Given the description of an element on the screen output the (x, y) to click on. 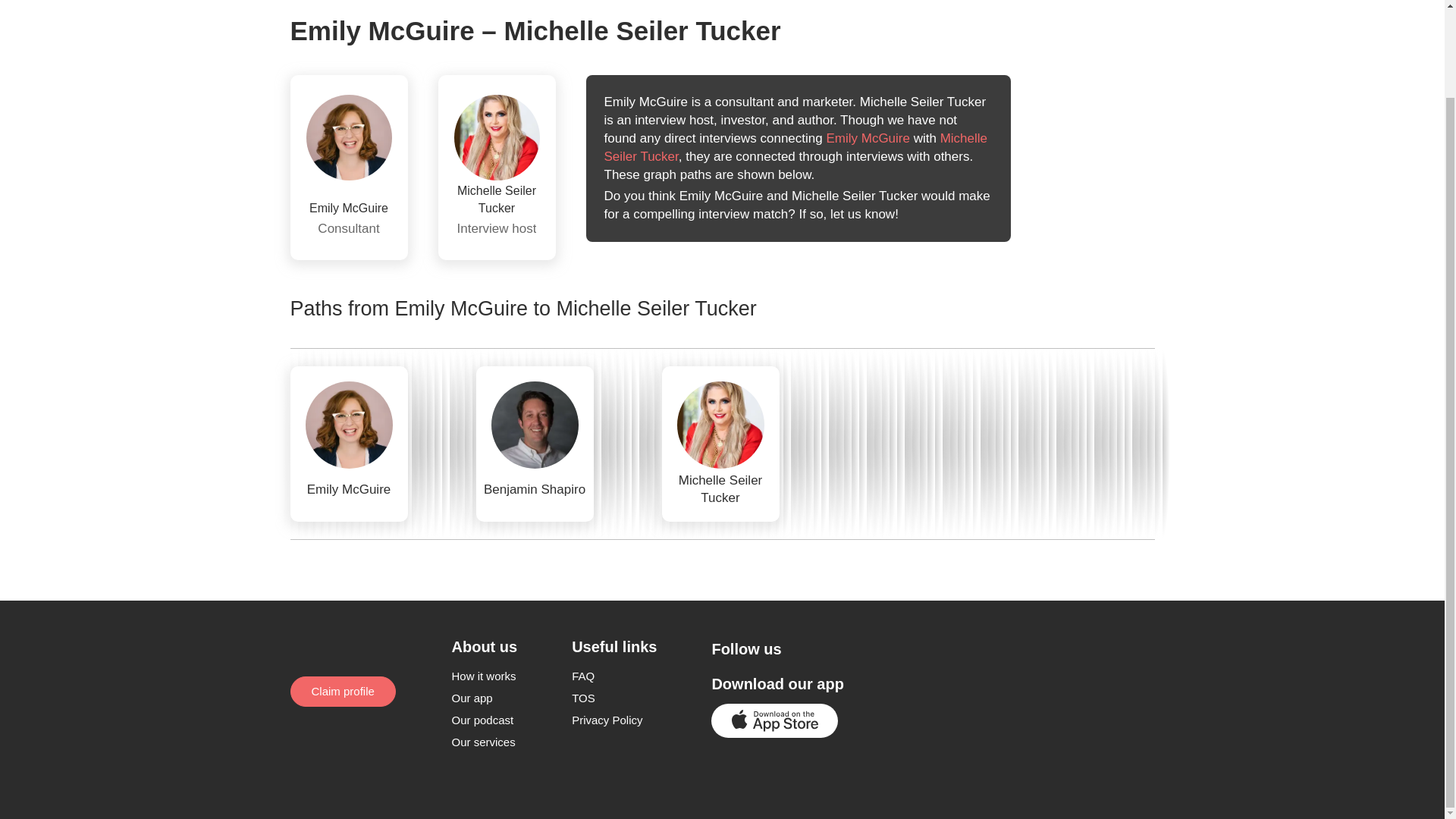
let us know (862, 214)
